Given the description of an element on the screen output the (x, y) to click on. 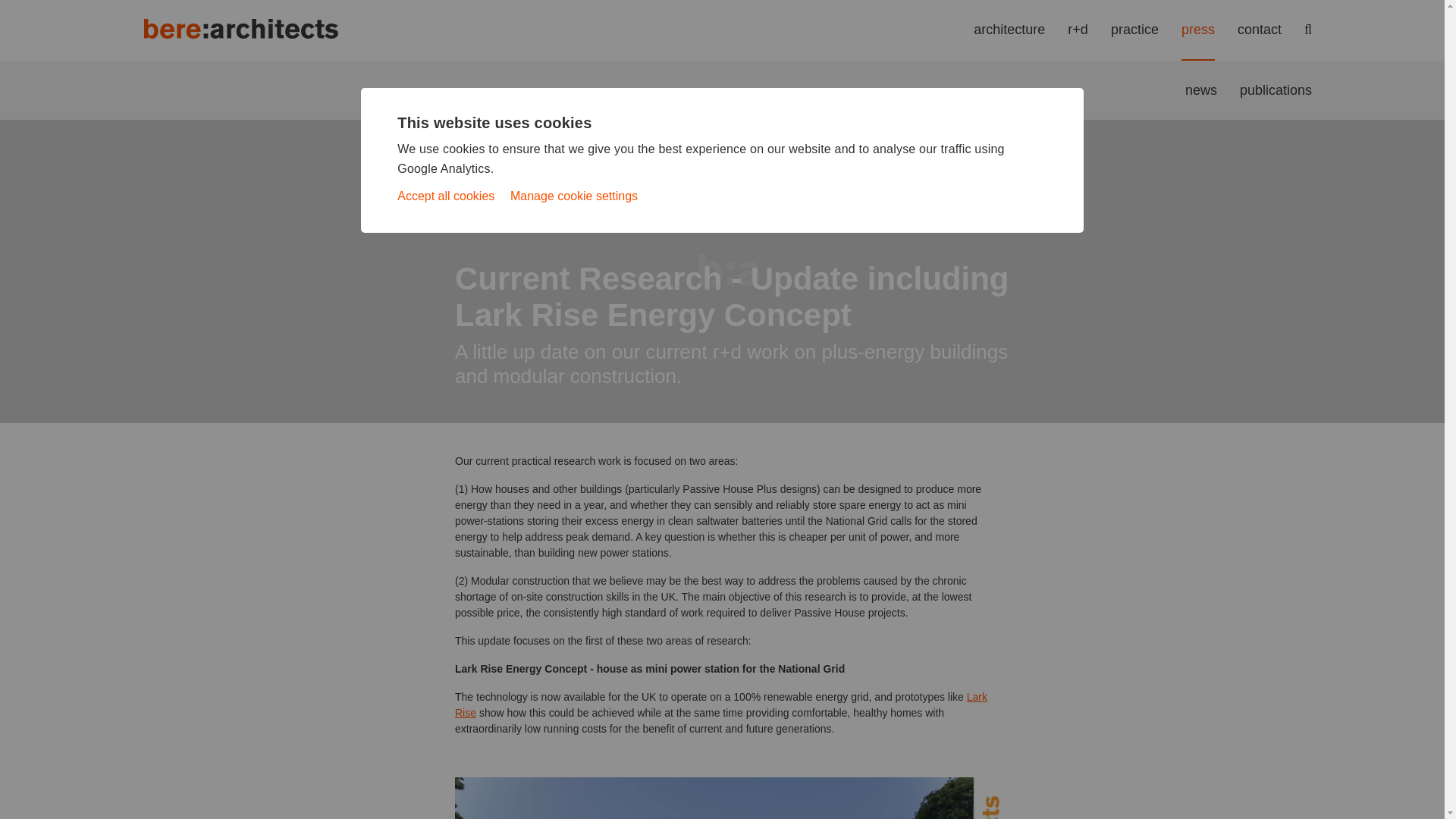
architecture (1009, 29)
